Given the description of an element on the screen output the (x, y) to click on. 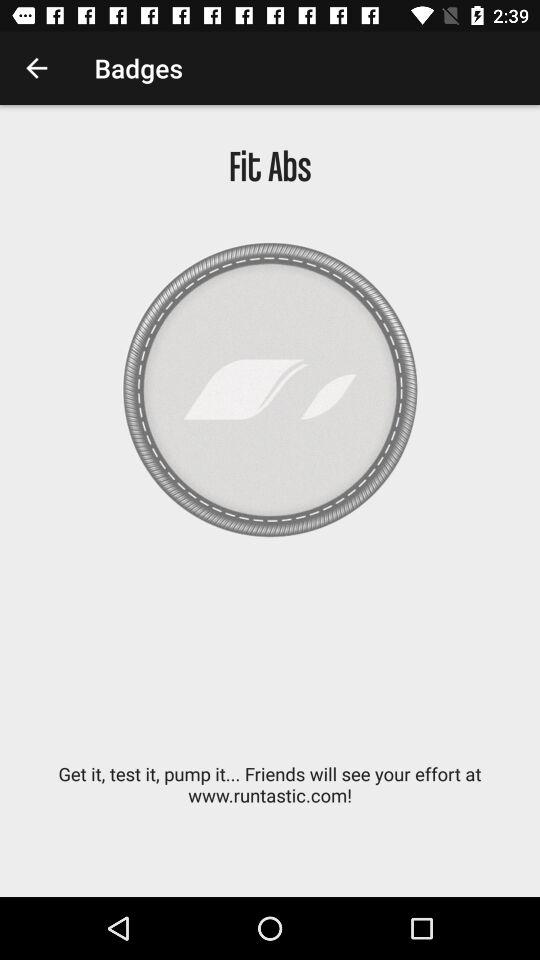
swipe until get it test (270, 795)
